Given the description of an element on the screen output the (x, y) to click on. 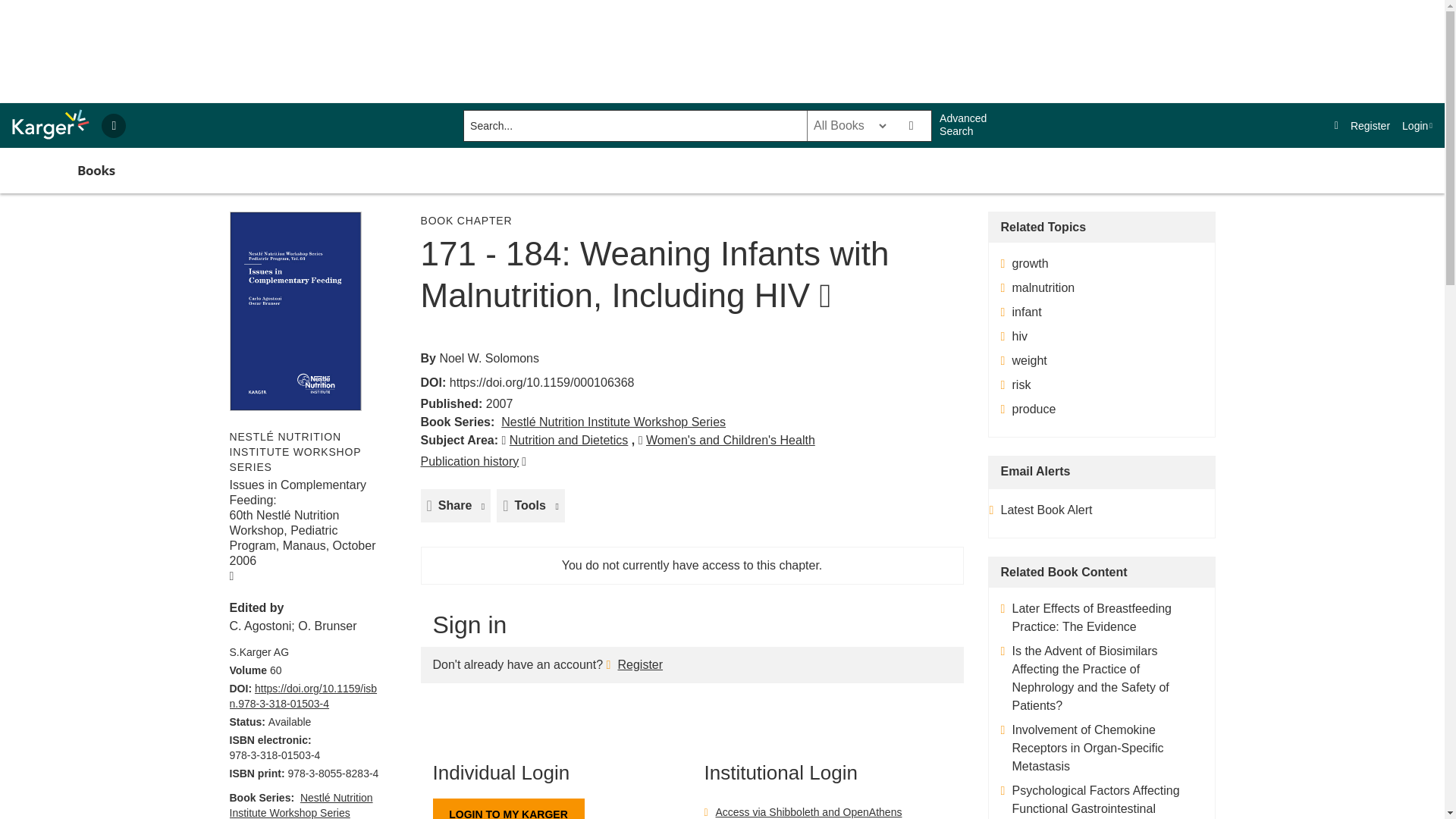
search input (633, 125)
